Given the description of an element on the screen output the (x, y) to click on. 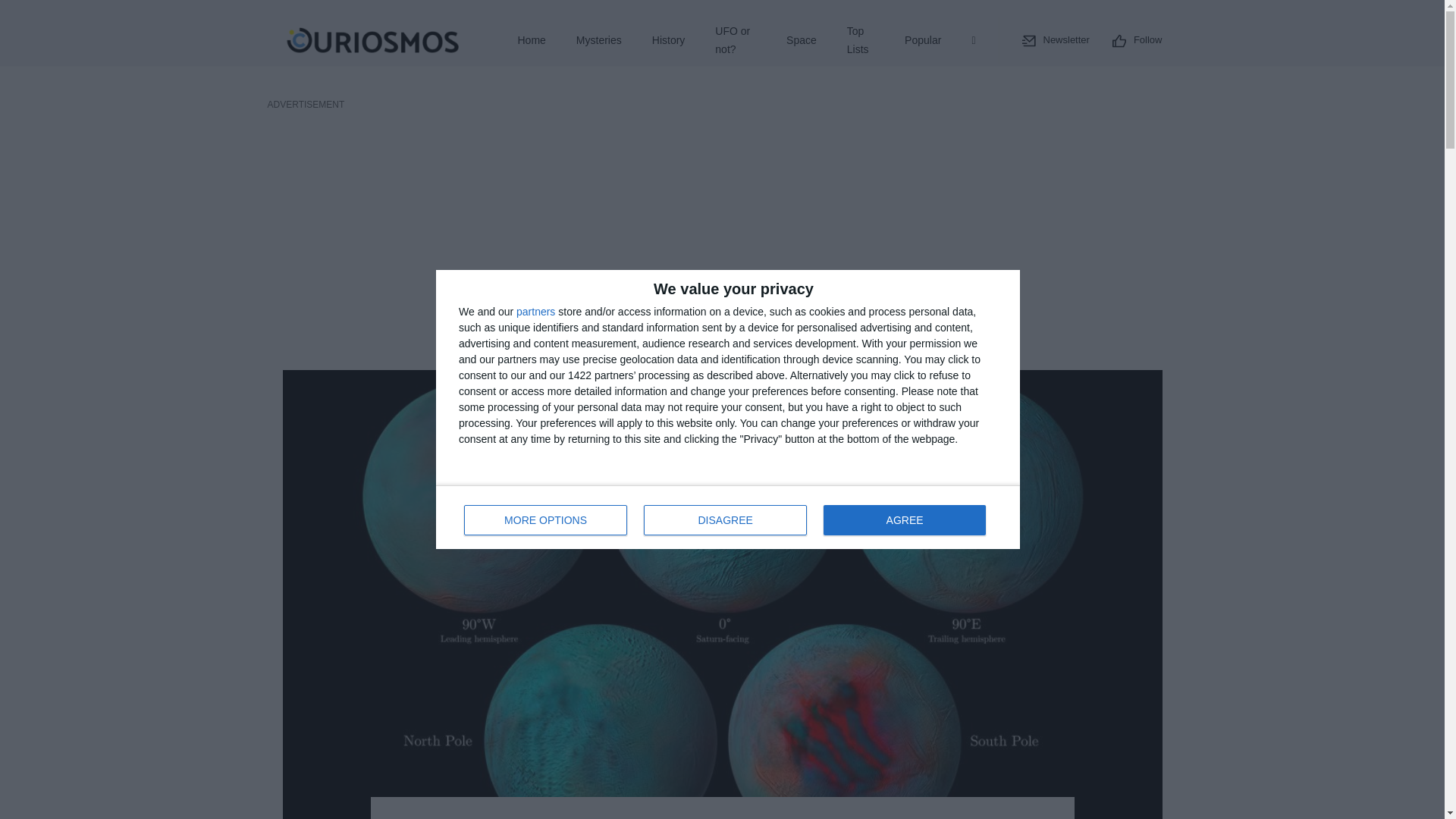
Popular (922, 40)
DISAGREE (724, 520)
Mysteries (598, 40)
Space (801, 40)
AGREE (904, 520)
Curiosmos (373, 40)
History (668, 40)
Home (531, 40)
UFO or not? (735, 40)
partners (727, 516)
Follow (535, 311)
Newsletter (1136, 39)
MORE OPTIONS (1055, 39)
